Given the description of an element on the screen output the (x, y) to click on. 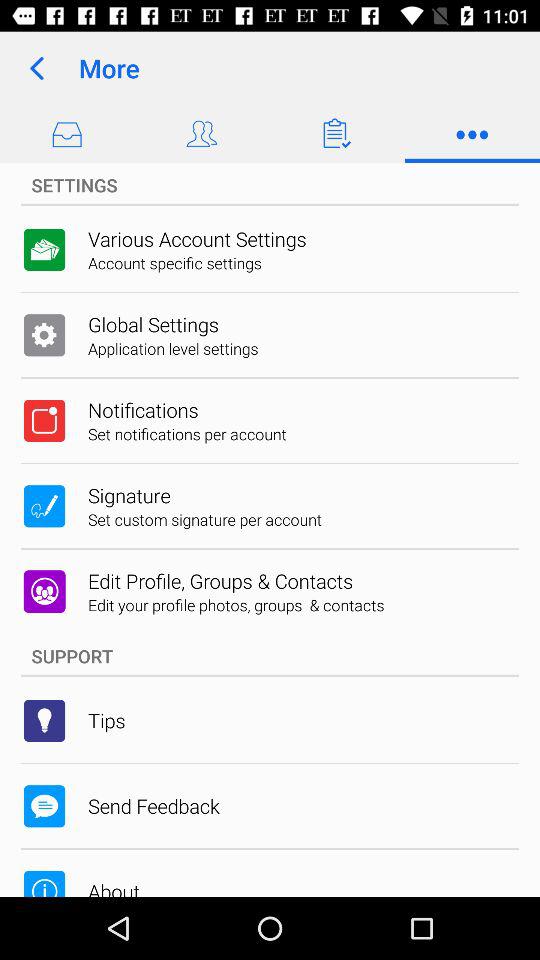
turn off the icon below the global settings item (173, 348)
